Given the description of an element on the screen output the (x, y) to click on. 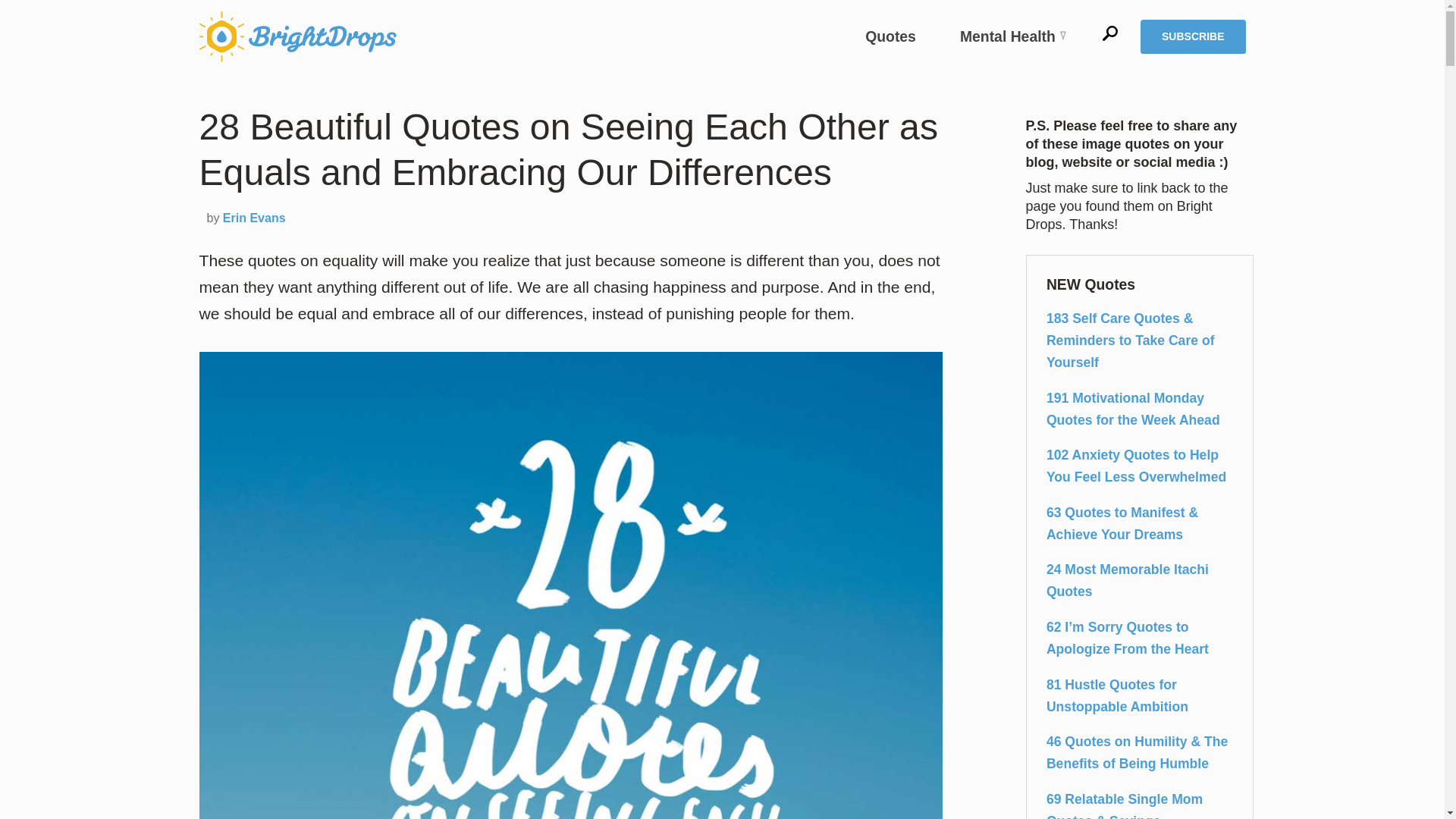
191 Motivational Monday Quotes for the Week Ahead (1138, 409)
Bright Drops (297, 36)
Quotes (890, 36)
SUBSCRIBE (1192, 36)
102 Anxiety Quotes to Help You Feel Less Overwhelmed (1138, 466)
Mental Health (1013, 36)
Erin Evans (253, 217)
